Given the description of an element on the screen output the (x, y) to click on. 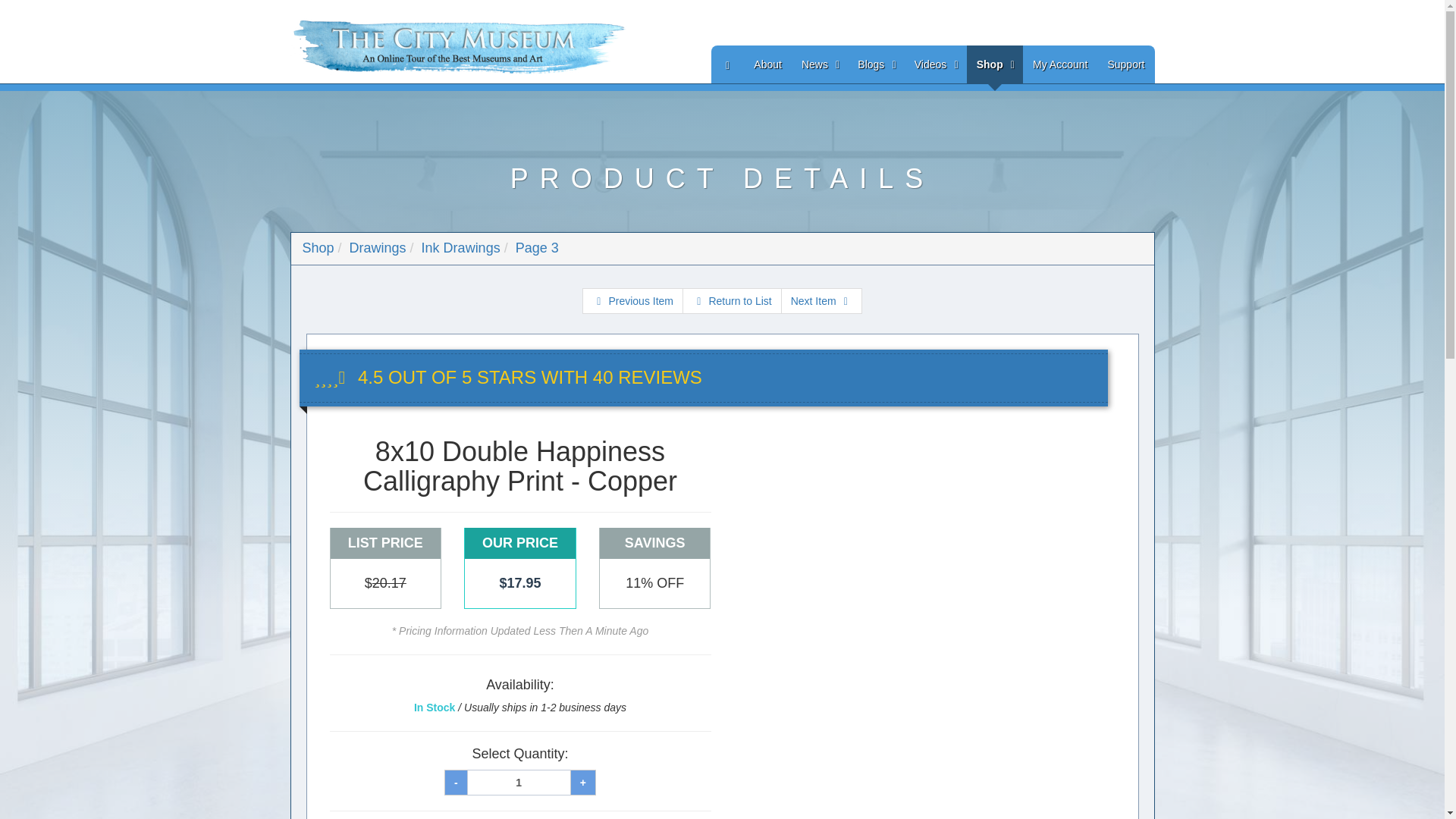
About (768, 64)
Ink Drawings (461, 247)
Shop (994, 64)
Support (1125, 64)
Page 3 (537, 247)
Drawings (377, 247)
1 (518, 782)
My Account (1060, 64)
Videos (935, 64)
Return to List (731, 300)
Previous Item (632, 300)
Blogs (875, 64)
- (455, 782)
Shop (317, 247)
Next Item (820, 300)
